Given the description of an element on the screen output the (x, y) to click on. 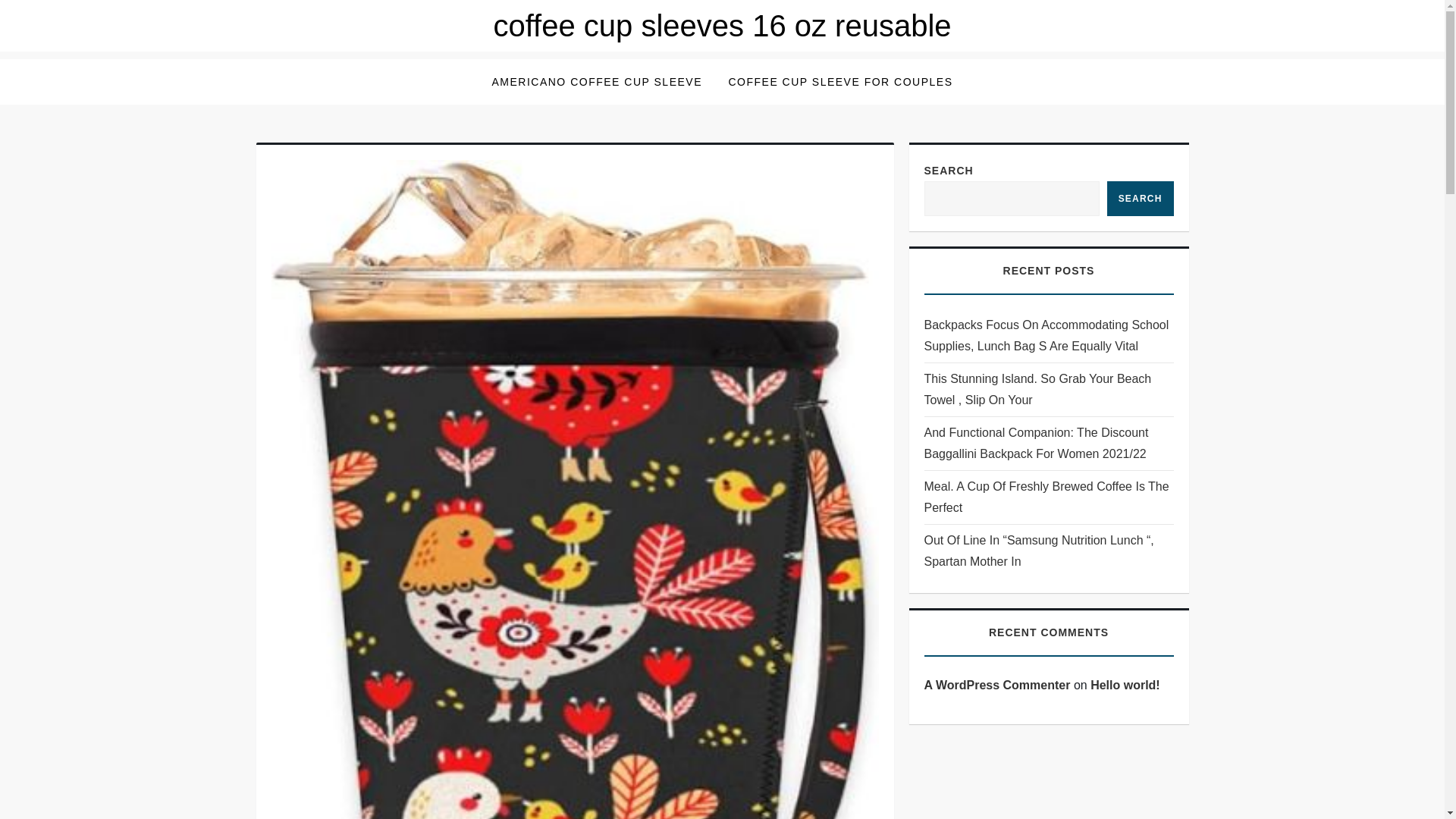
coffee cup sleeves 16 oz reusable (721, 25)
SEARCH (1139, 198)
A WordPress Commenter (996, 684)
Meal. A Cup Of Freshly Brewed Coffee Is The Perfect (1048, 496)
Hello world! (1125, 684)
AMERICANO COFFEE CUP SLEEVE (596, 81)
COFFEE CUP SLEEVE FOR COUPLES (839, 81)
